Given the description of an element on the screen output the (x, y) to click on. 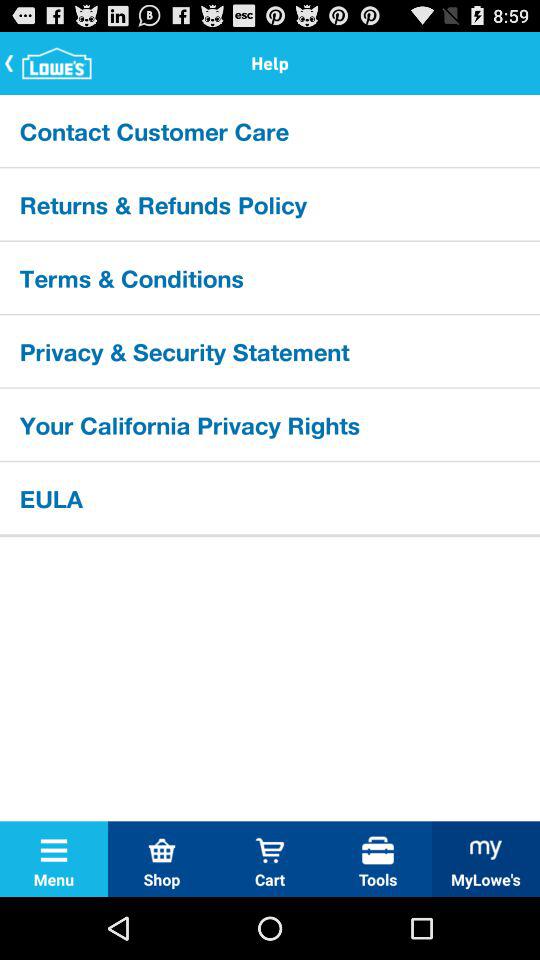
launch eula item (270, 497)
